Given the description of an element on the screen output the (x, y) to click on. 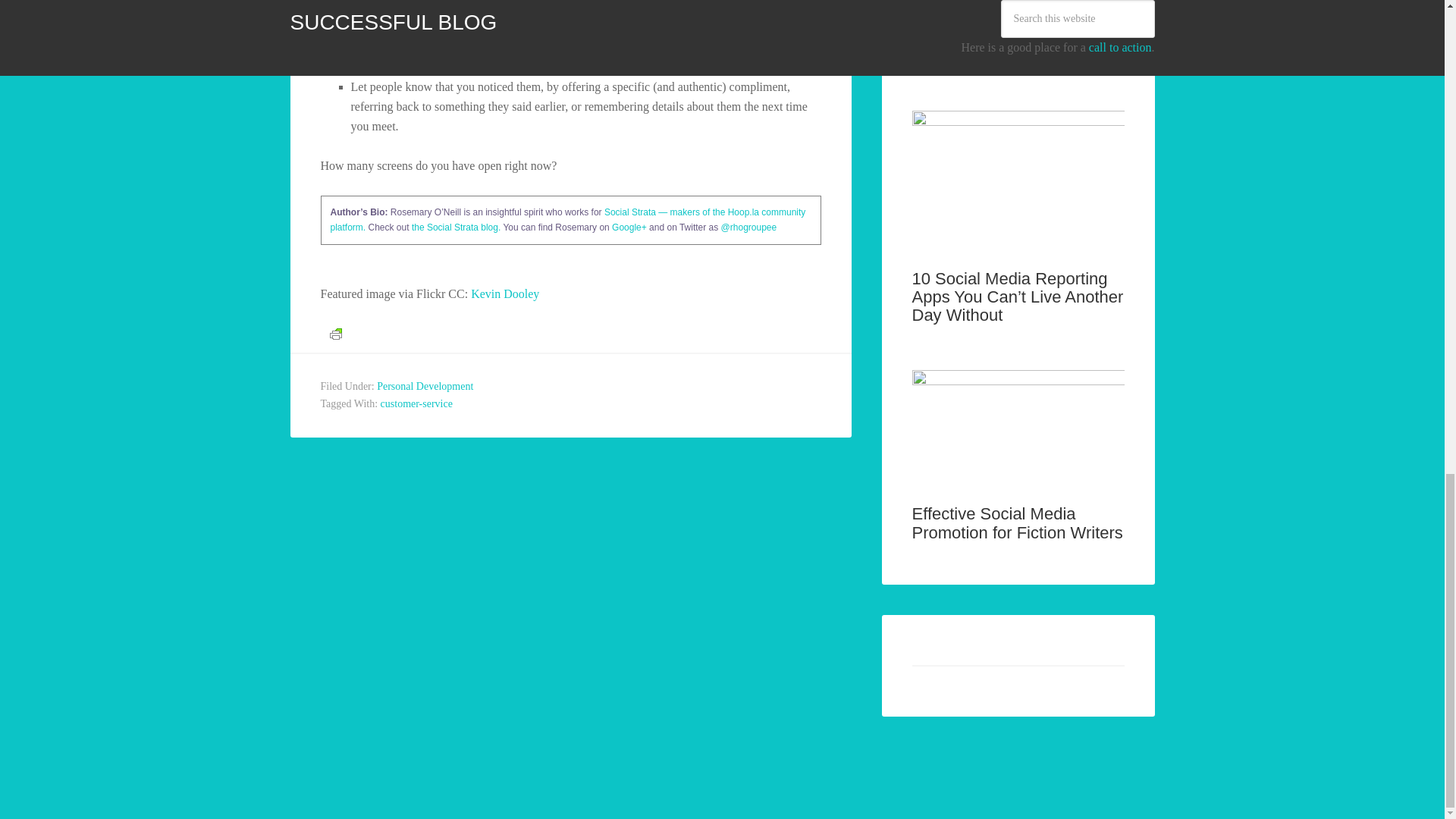
Watch Your Tone! Finding Your Brand Voice (1005, 46)
Go to Kevin Dooley's photostream (504, 293)
Personal Development (425, 386)
Effective Social Media Promotion for Fiction Writers (1016, 522)
customer-service (416, 403)
the Social Strata blog. (456, 226)
Kevin Dooley (504, 293)
